Given the description of an element on the screen output the (x, y) to click on. 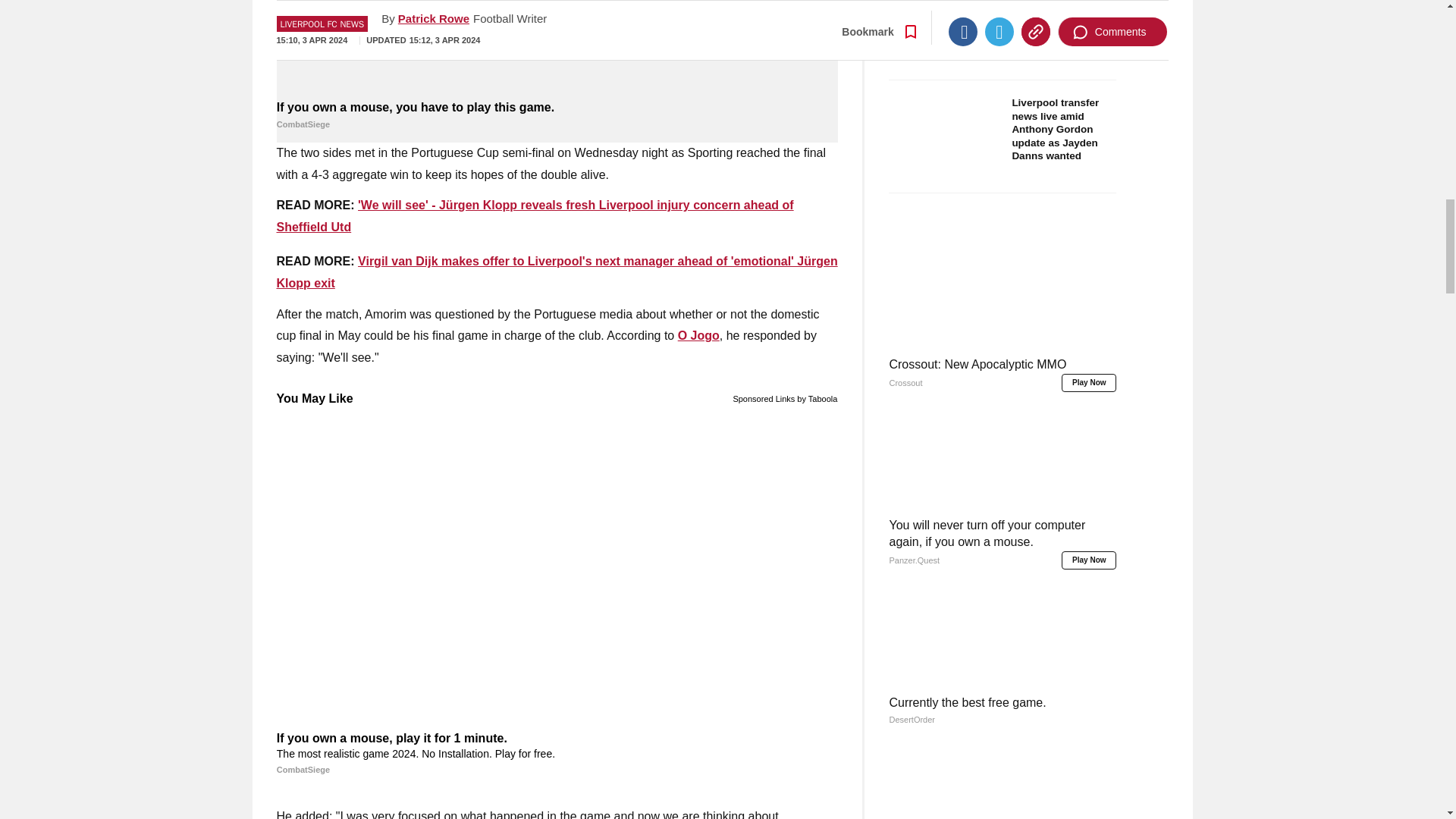
If you own a mouse, you have to play this game. (557, 47)
